Given the description of an element on the screen output the (x, y) to click on. 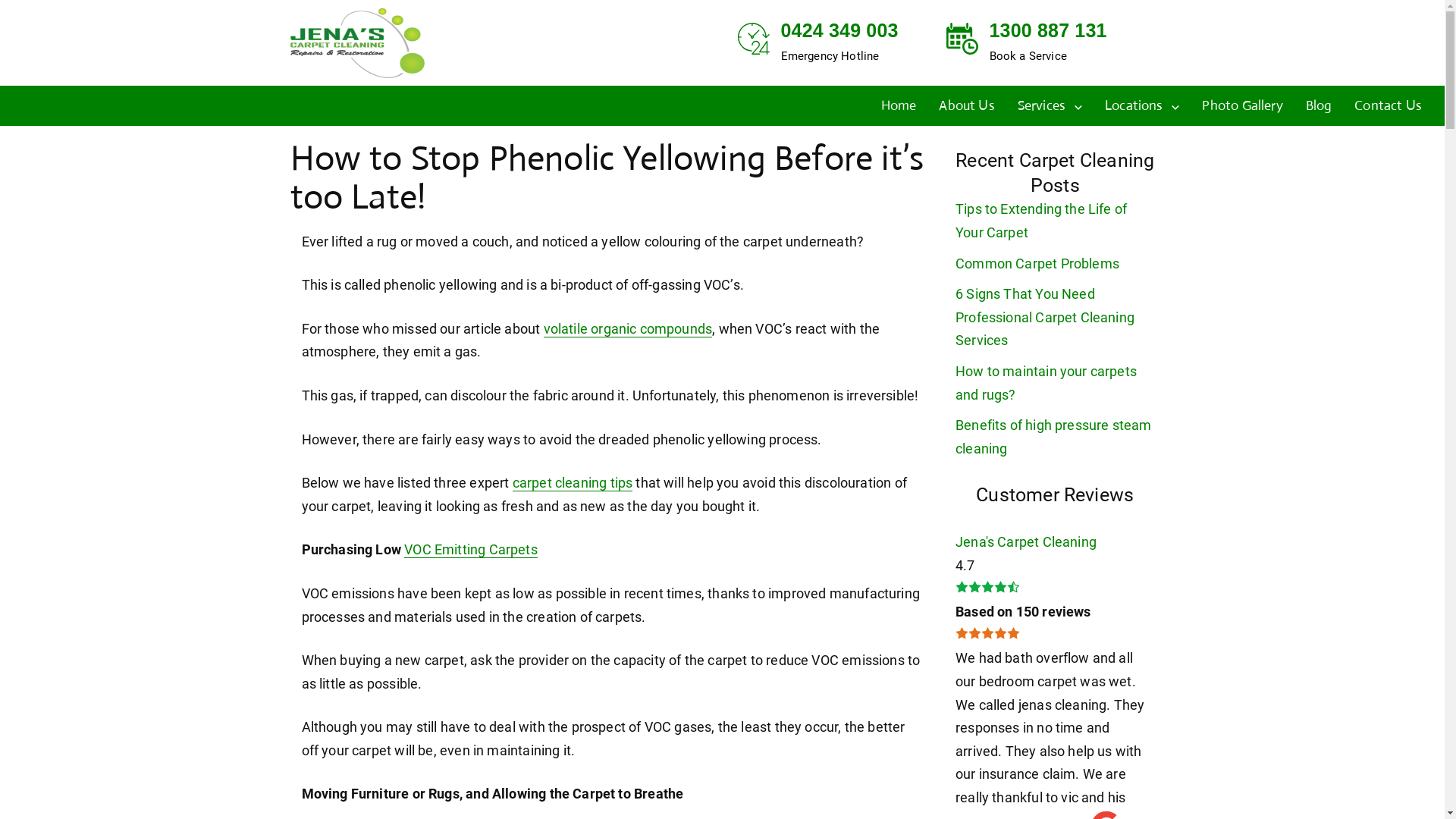
Tips to Extending the Life of Your Carpet Element type: text (1040, 220)
VOC Emitting Carpets Element type: text (470, 549)
About Us Element type: text (966, 105)
Home Element type: text (898, 105)
Benefits of high pressure steam cleaning Element type: text (1053, 436)
6 Signs That You Need Professional Carpet Cleaning Services Element type: text (1044, 316)
Contact Us Element type: text (1388, 105)
volatile organic compounds Element type: text (627, 328)
Locations Element type: text (1141, 105)
1300 887 131 Element type: text (1047, 29)
Common Carpet Problems Element type: text (1037, 263)
How to maintain your carpets and rugs? Element type: text (1045, 382)
Blog Element type: text (1318, 105)
0424 349 003 Element type: text (839, 29)
Photo Gallery Element type: text (1241, 105)
carpet cleaning tips Element type: text (572, 482)
Services Element type: text (1049, 105)
Jena's Carpet Cleaning Element type: text (1025, 541)
